Given the description of an element on the screen output the (x, y) to click on. 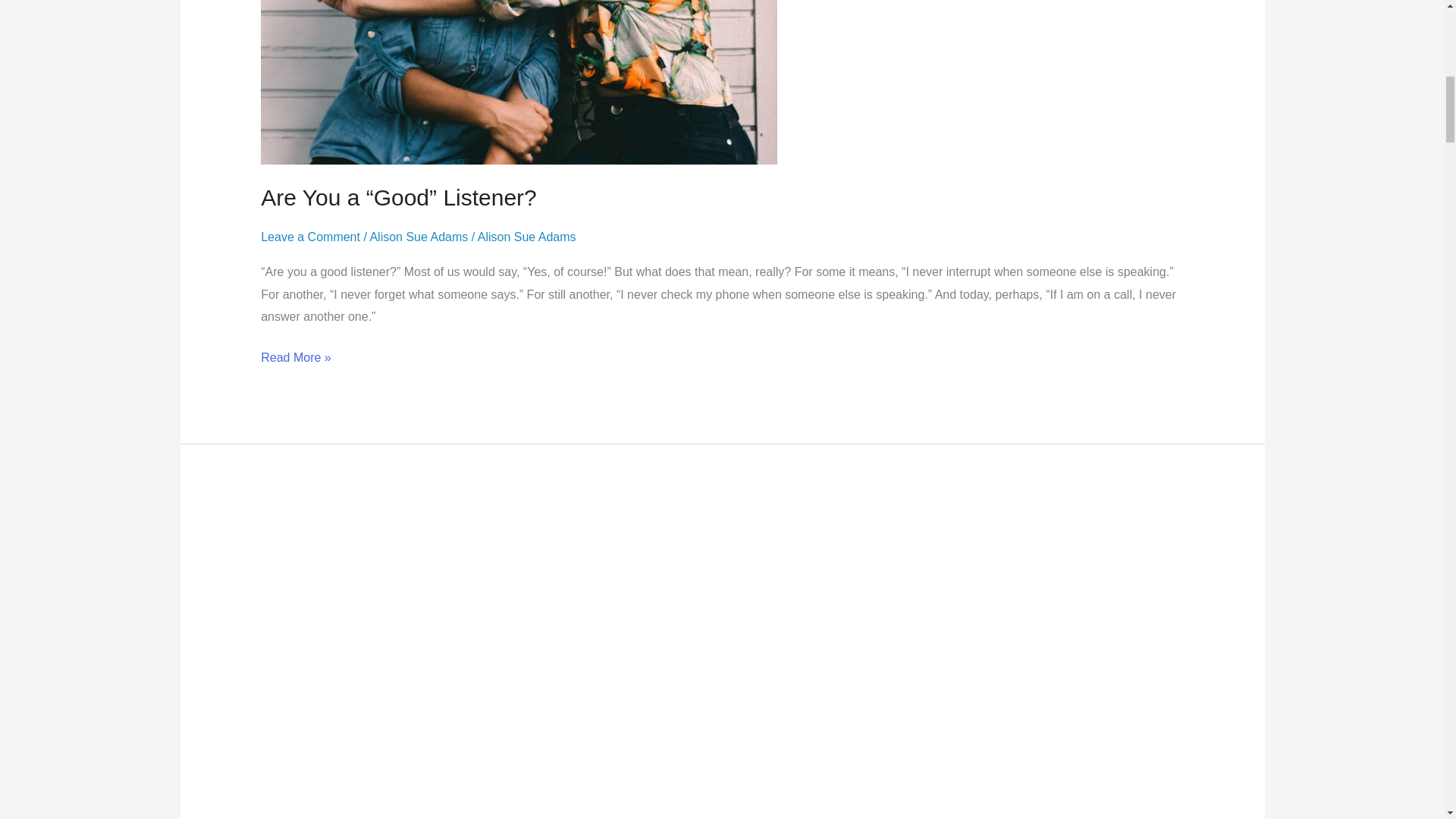
Alison Sue Adams (418, 236)
Leave a Comment (309, 236)
Alison Sue Adams (526, 236)
View all posts by Alison Sue Adams (526, 236)
